Given the description of an element on the screen output the (x, y) to click on. 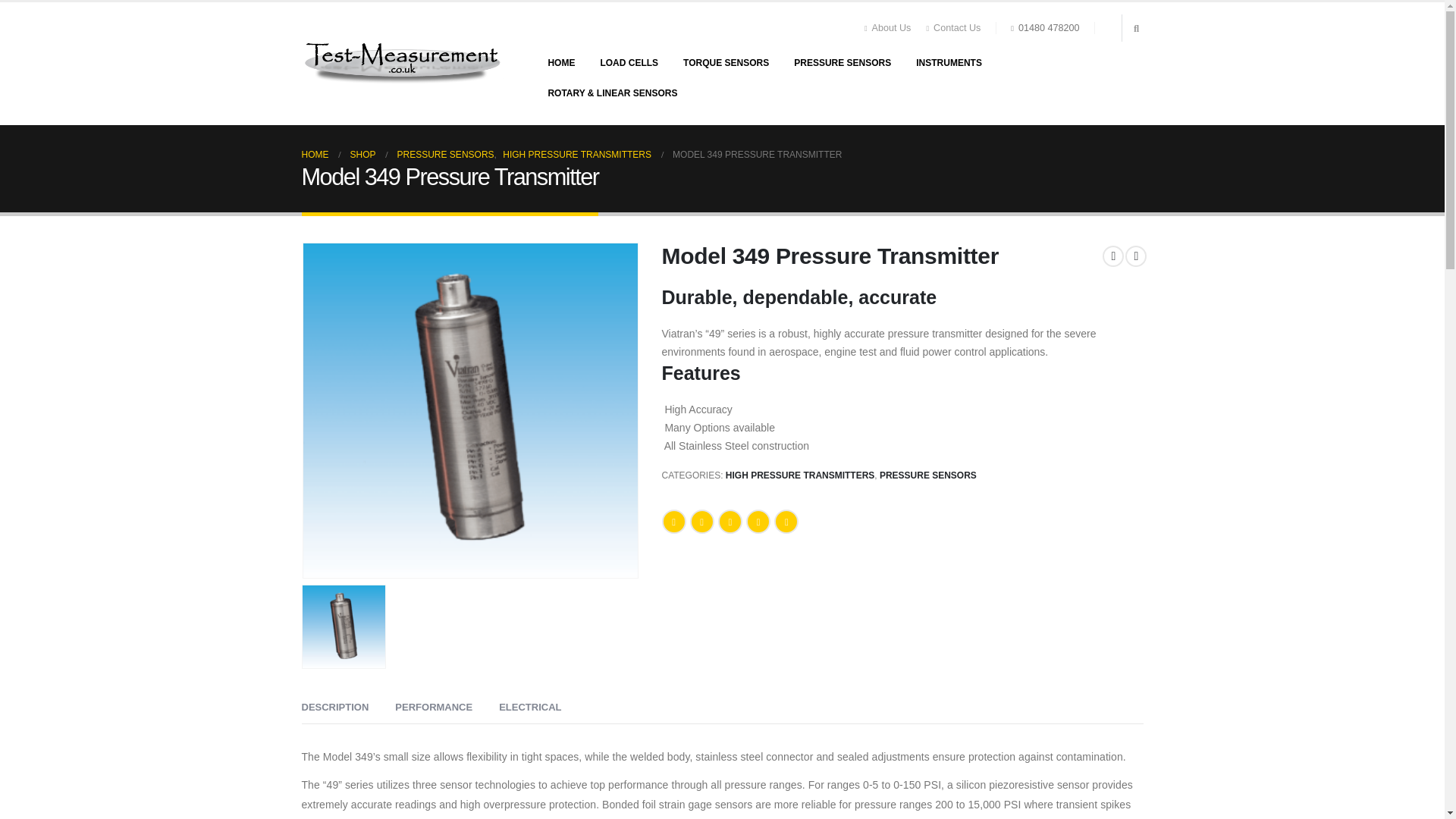
HOME (560, 62)
TORQUE SENSORS (725, 62)
Go to Home Page (315, 154)
Test Measurement -  (403, 63)
Contact Us (953, 27)
Email (785, 521)
Twitter (702, 521)
LinkedIn (729, 521)
About Us (891, 27)
LOAD CELLS (628, 62)
INSTRUMENTS (949, 62)
Facebook (673, 521)
PRESSURE SENSORS (841, 62)
